Given the description of an element on the screen output the (x, y) to click on. 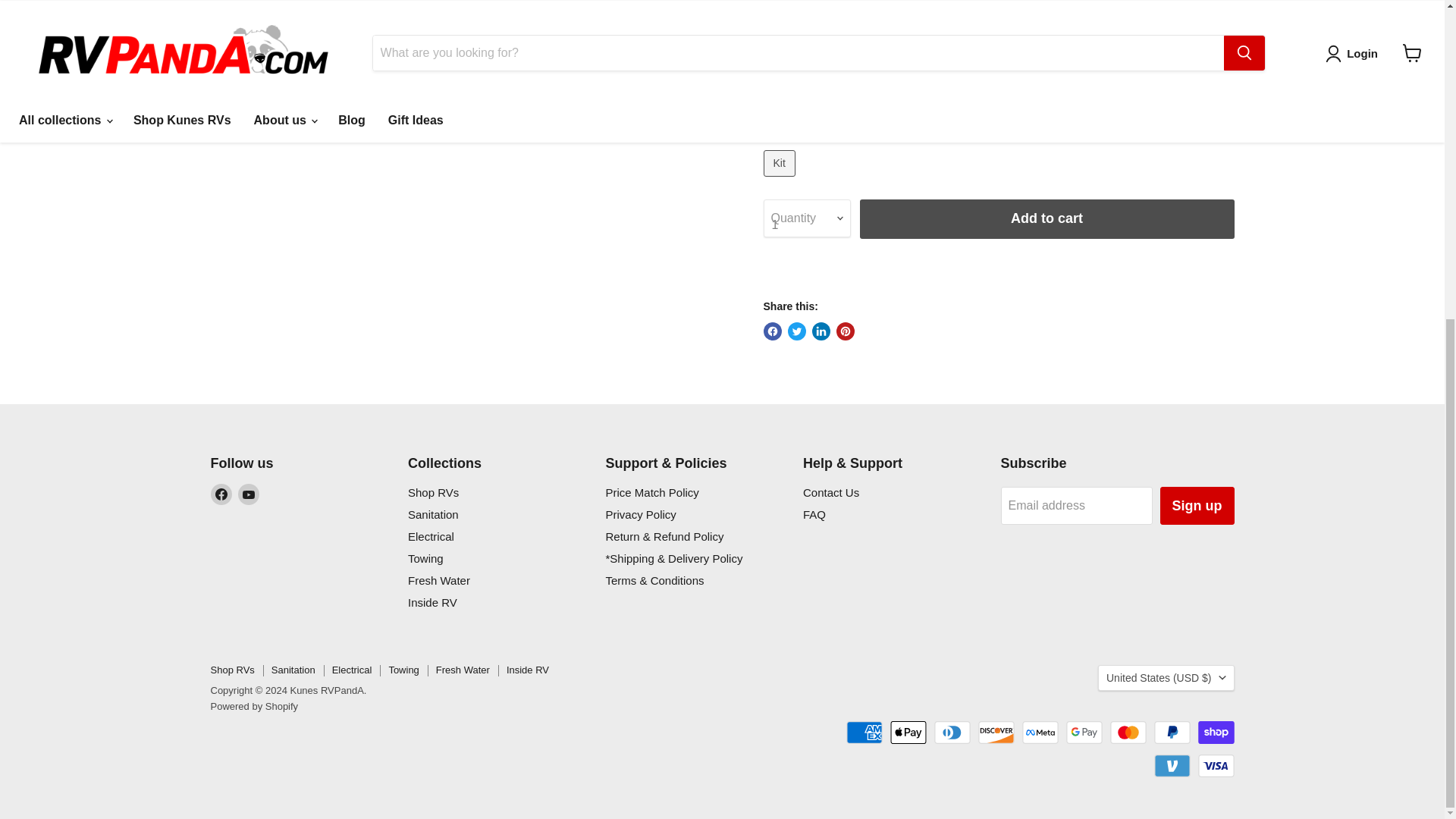
Diners Club (952, 732)
Meta Pay (1040, 732)
Discover (996, 732)
American Express (863, 732)
Google Pay (1083, 732)
Facebook (221, 494)
YouTube (248, 494)
Apple Pay (907, 732)
Mastercard (1128, 732)
